Given the description of an element on the screen output the (x, y) to click on. 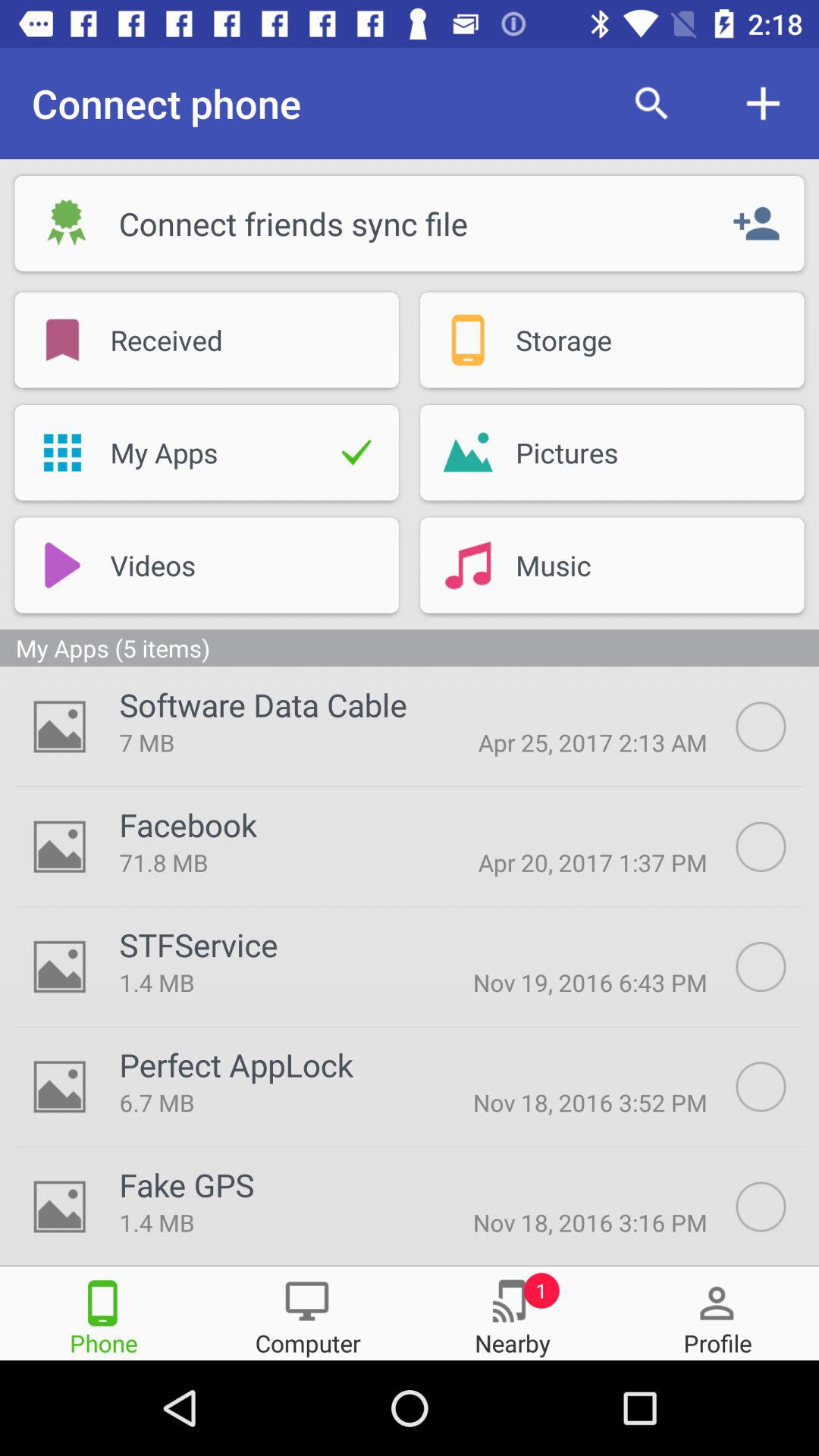
perfect applock (777, 1086)
